Given the description of an element on the screen output the (x, y) to click on. 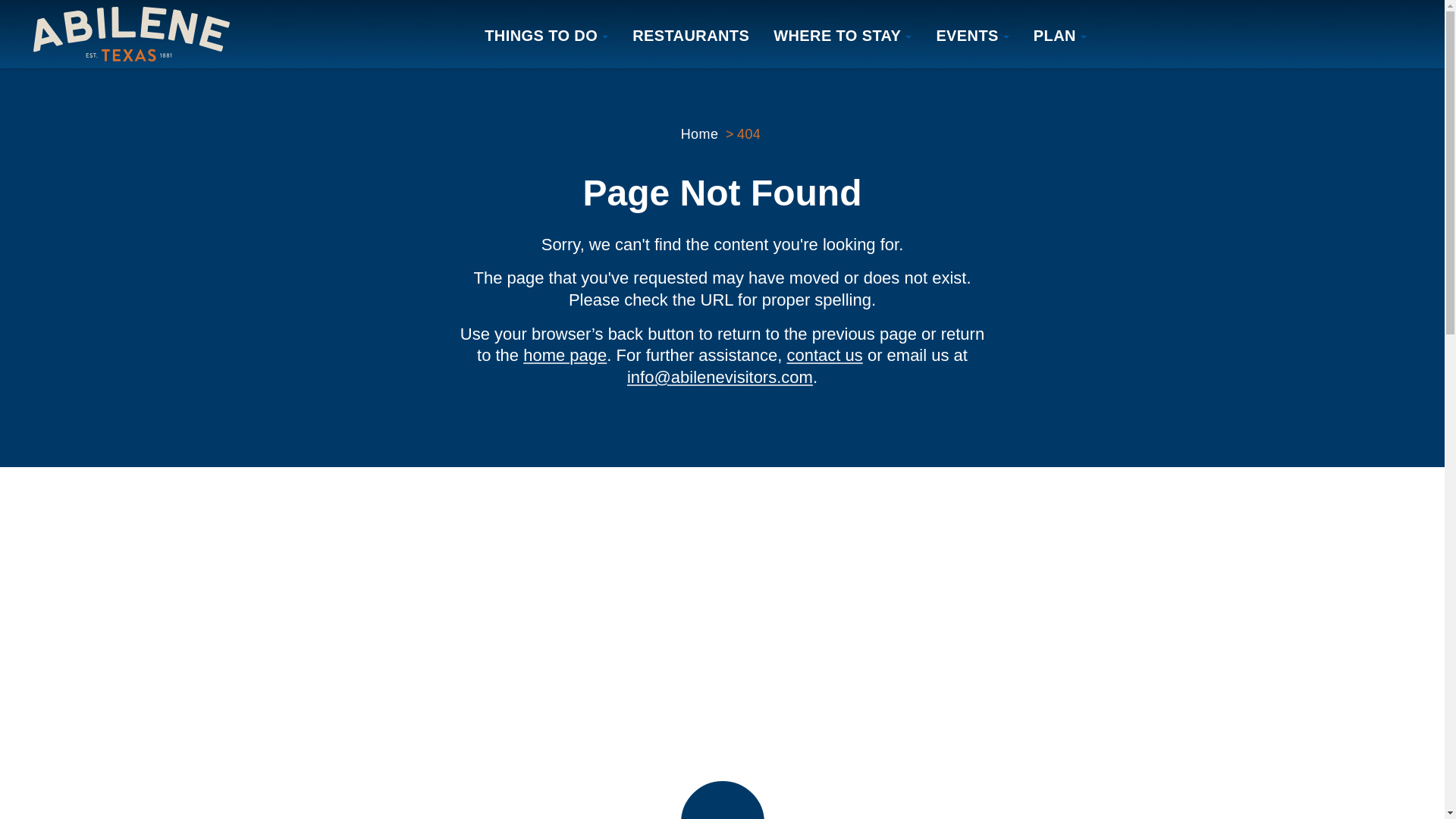
PLAN (1060, 34)
contact us (825, 354)
Home (700, 133)
EVENTS (971, 34)
Skip to content (17, 15)
RESTAURANTS (690, 34)
WHERE TO STAY (842, 34)
home page (564, 354)
THINGS TO DO (545, 34)
